Given the description of an element on the screen output the (x, y) to click on. 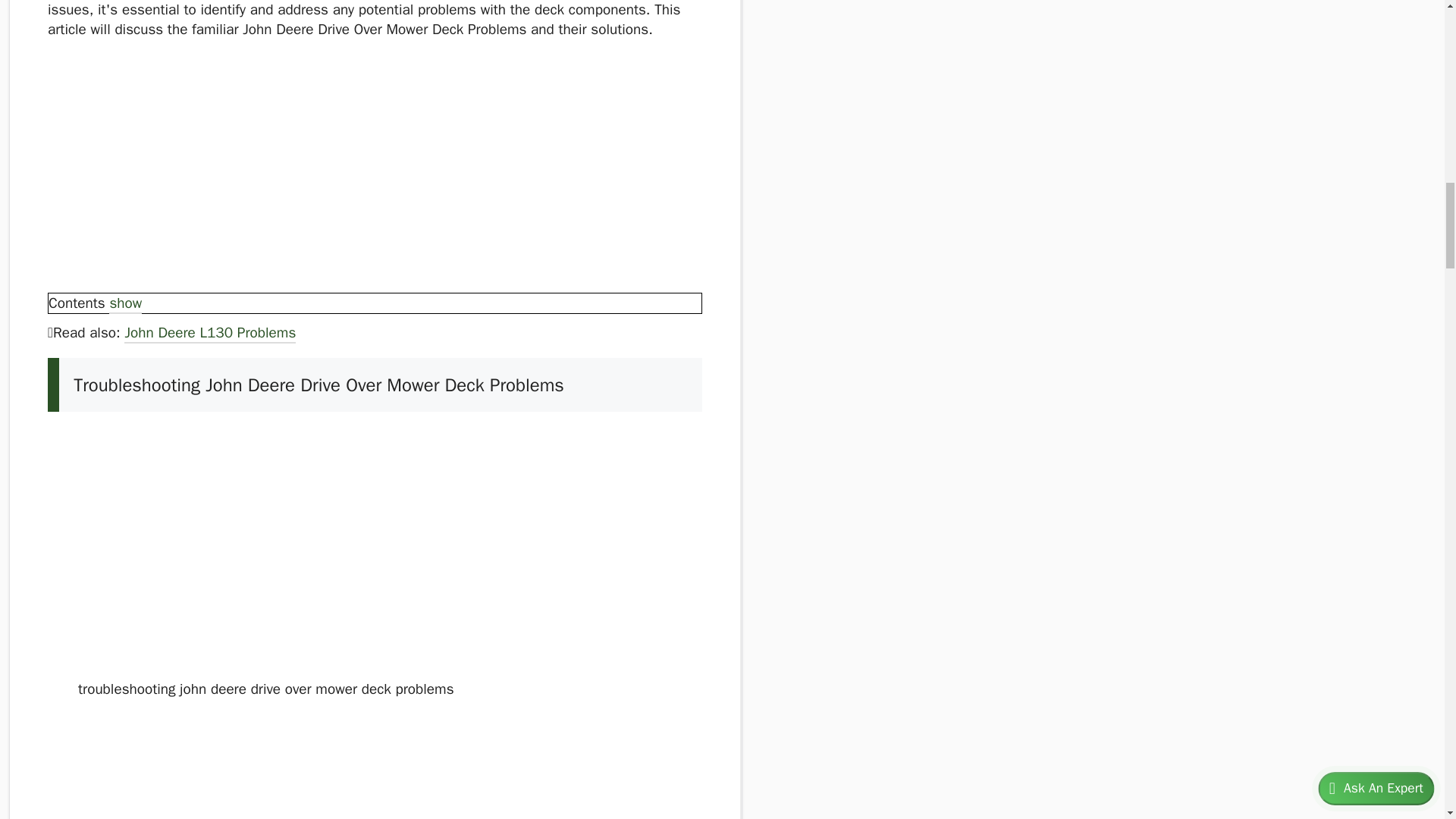
show (125, 304)
john deere drive over mower deck problems 2 (278, 550)
John Deere L130 Problems (209, 333)
